Given the description of an element on the screen output the (x, y) to click on. 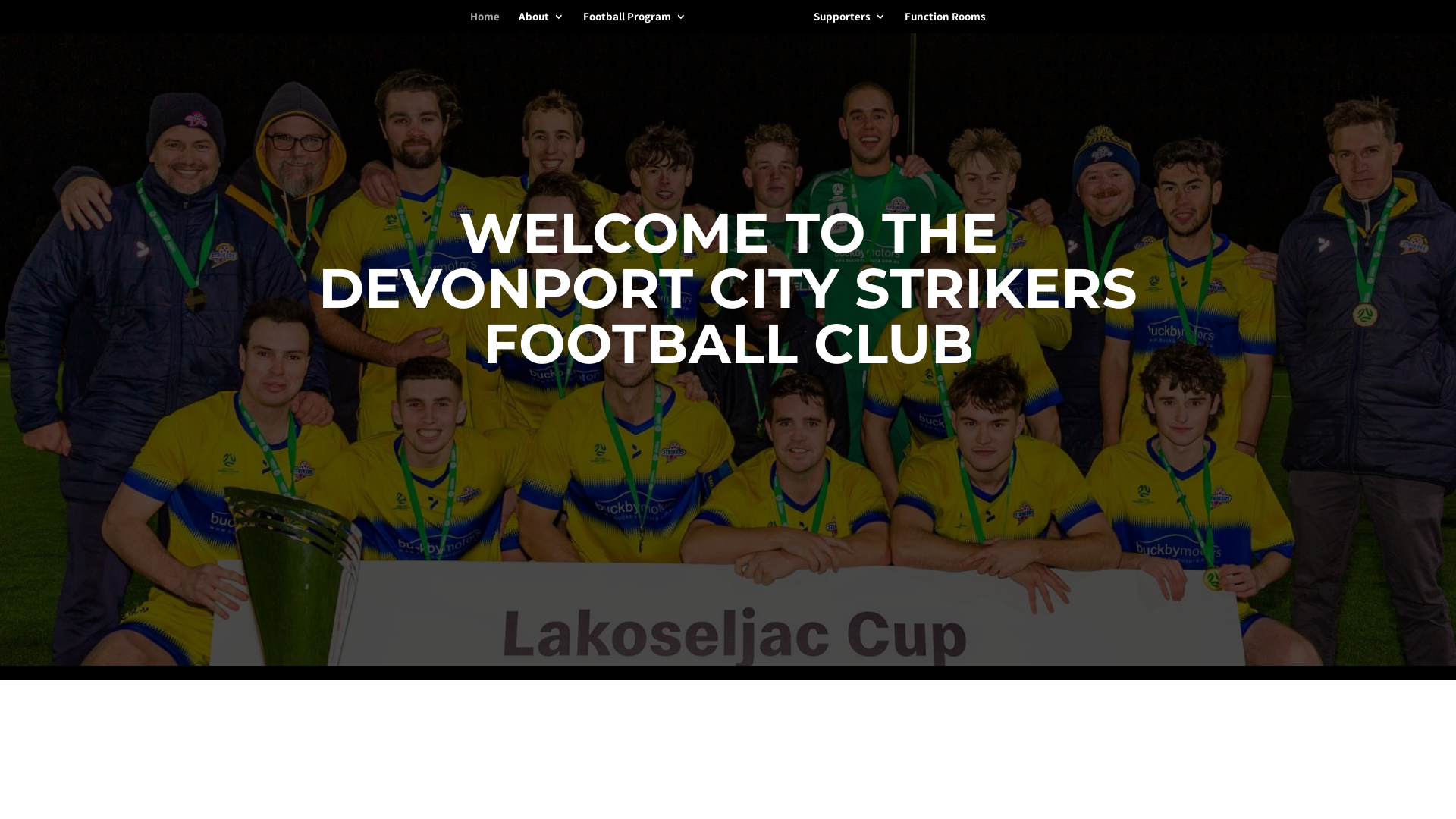
Football Program Element type: text (634, 22)
About Element type: text (541, 22)
Function Rooms Element type: text (944, 22)
Home Element type: text (484, 22)
Supporters Element type: text (849, 22)
